Given the description of an element on the screen output the (x, y) to click on. 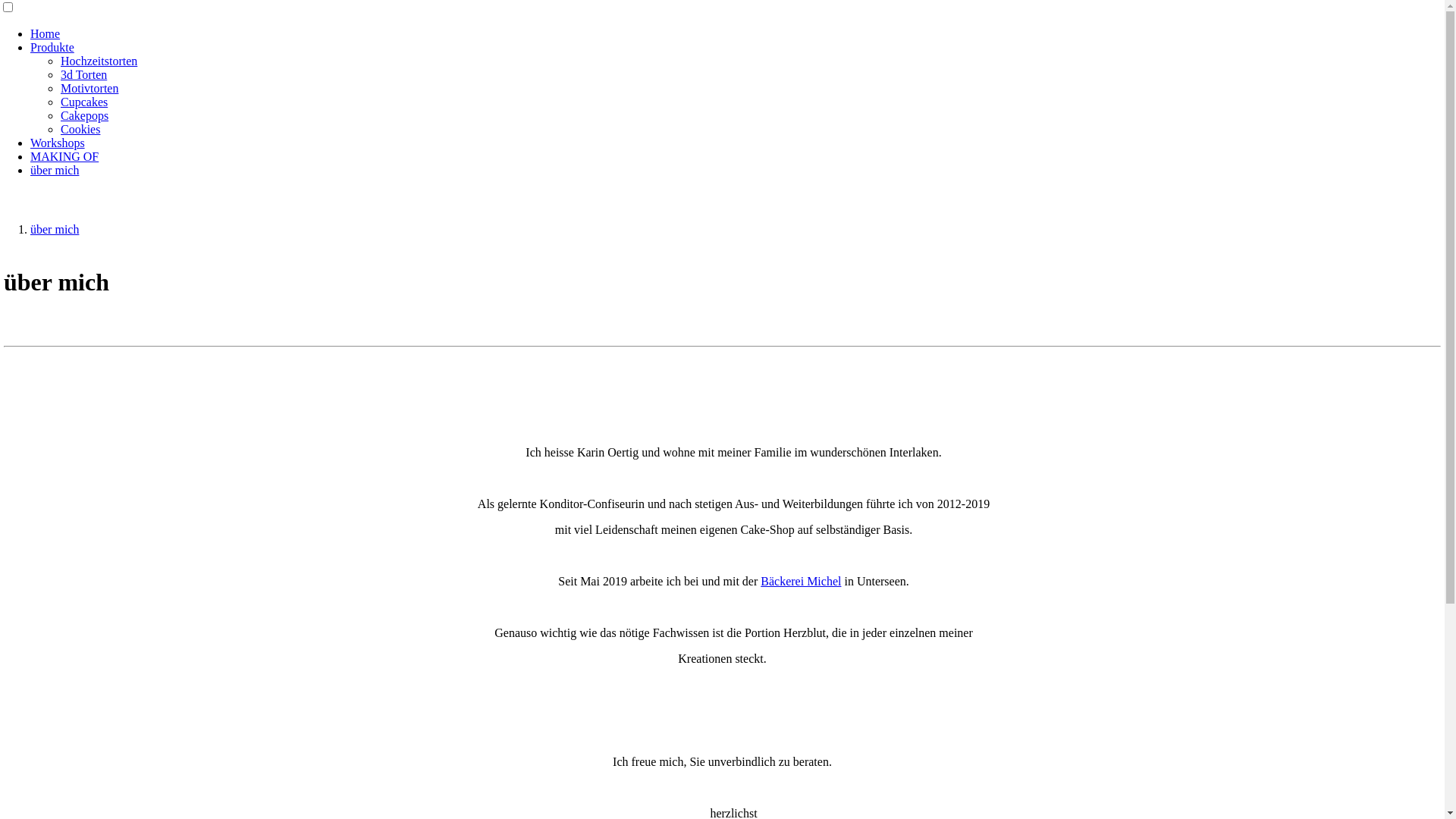
MAKING OF Element type: text (64, 156)
Workshops Element type: text (57, 142)
Motivtorten Element type: text (89, 87)
Produkte Element type: text (52, 46)
3d Torten Element type: text (83, 74)
Cupcakes Element type: text (83, 101)
Cakepops Element type: text (84, 115)
Cookies Element type: text (80, 128)
Hochzeitstorten Element type: text (98, 60)
Home Element type: text (44, 33)
